Given the description of an element on the screen output the (x, y) to click on. 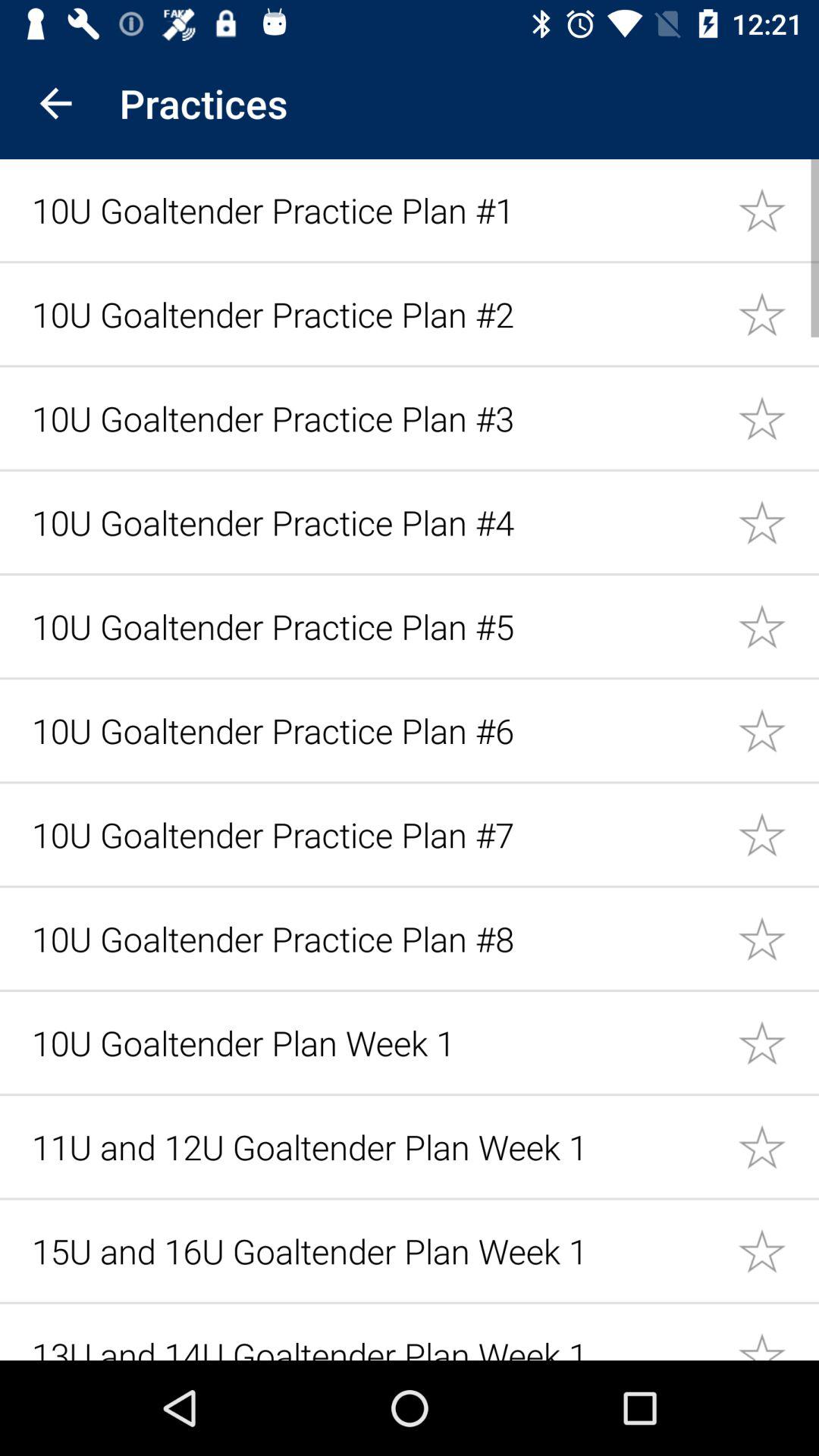
add to favorites (778, 938)
